Given the description of an element on the screen output the (x, y) to click on. 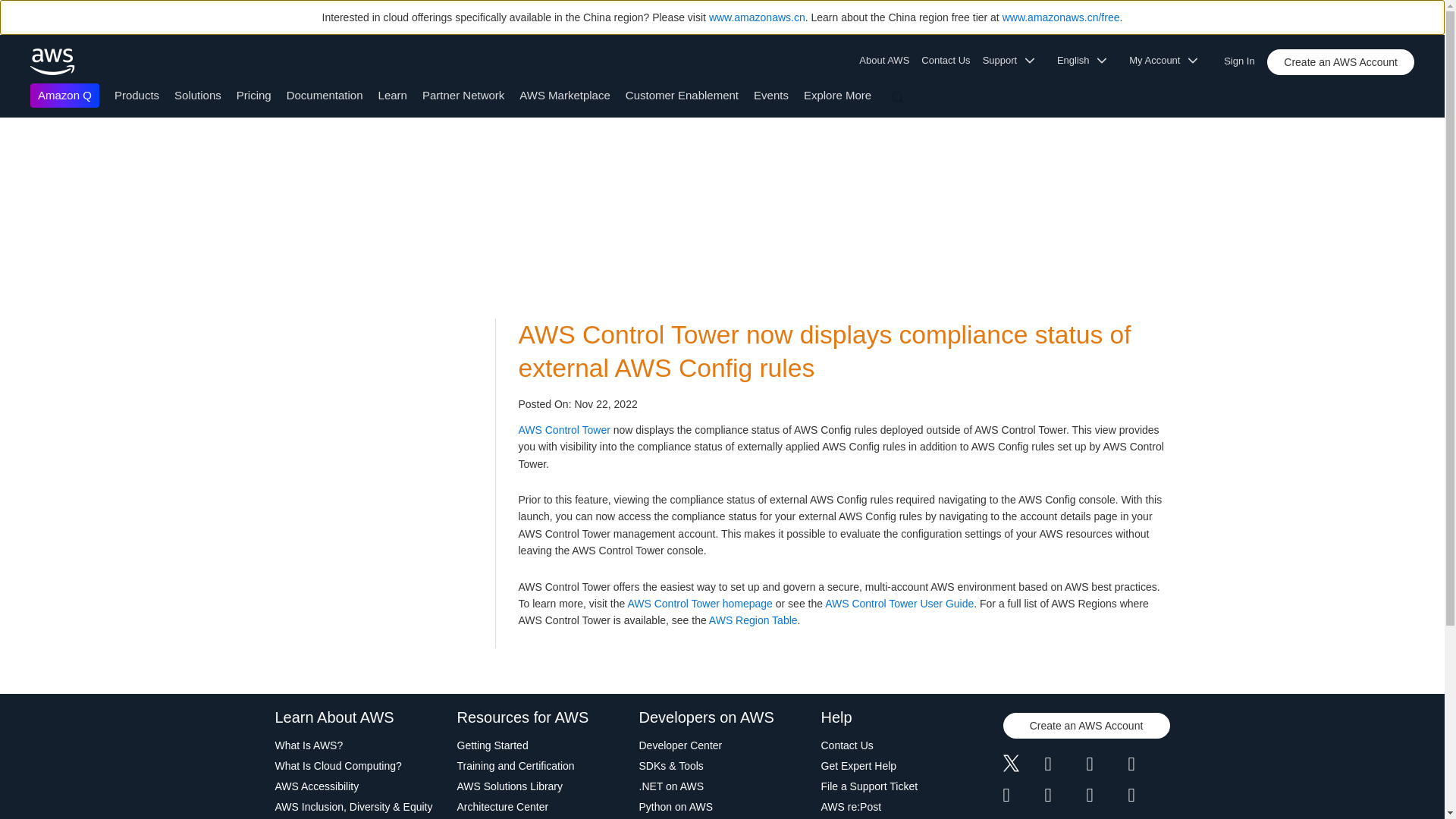
Contact Us (945, 60)
Learn (392, 94)
Solutions (197, 94)
Customer Enablement (682, 94)
Click here to return to Amazon Web Services homepage (52, 61)
Documentation (324, 94)
Linkedin (1106, 765)
My Account   (1168, 60)
Sign In (1243, 58)
Explore More (836, 94)
